Given the description of an element on the screen output the (x, y) to click on. 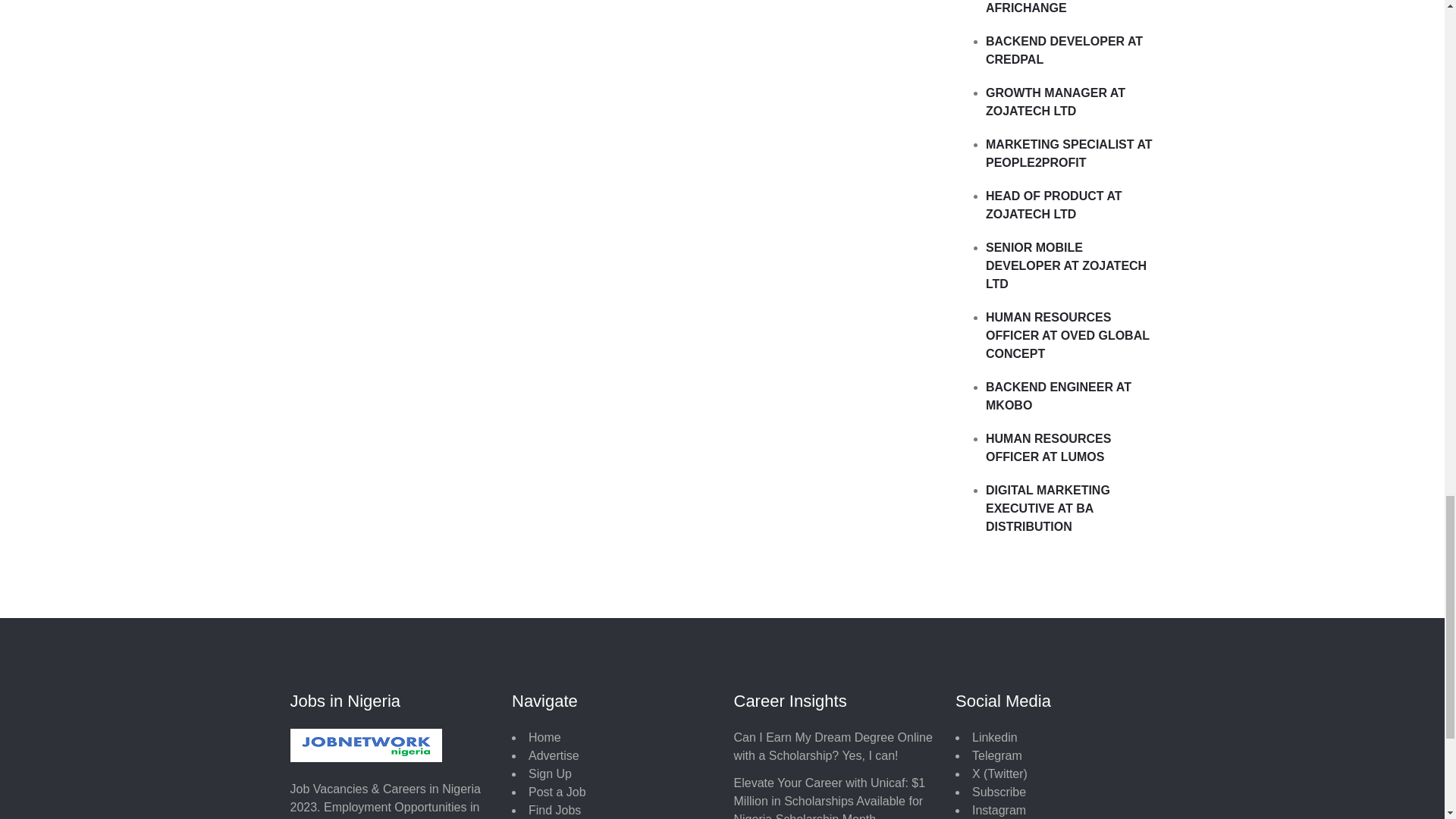
HEAD OF PRODUCT AT ZOJATECH LTD (1053, 204)
BACK-END ENGINEER AT AFRICHANGE (1060, 7)
BACKEND ENGINEER AT MKOBO (1058, 395)
SENIOR MOBILE DEVELOPER AT ZOJATECH LTD (1066, 265)
GROWTH MANAGER AT ZOJATECH LTD (1055, 101)
HUMAN RESOURCES OFFICER AT OVED GLOBAL CONCEPT (1067, 335)
HUMAN RESOURCES OFFICER AT LUMOS (1047, 447)
BACKEND DEVELOPER AT CREDPAL (1063, 50)
MARKETING SPECIALIST AT PEOPLE2PROFIT (1069, 153)
DIGITAL MARKETING EXECUTIVE AT BA DISTRIBUTION (1047, 508)
